Given the description of an element on the screen output the (x, y) to click on. 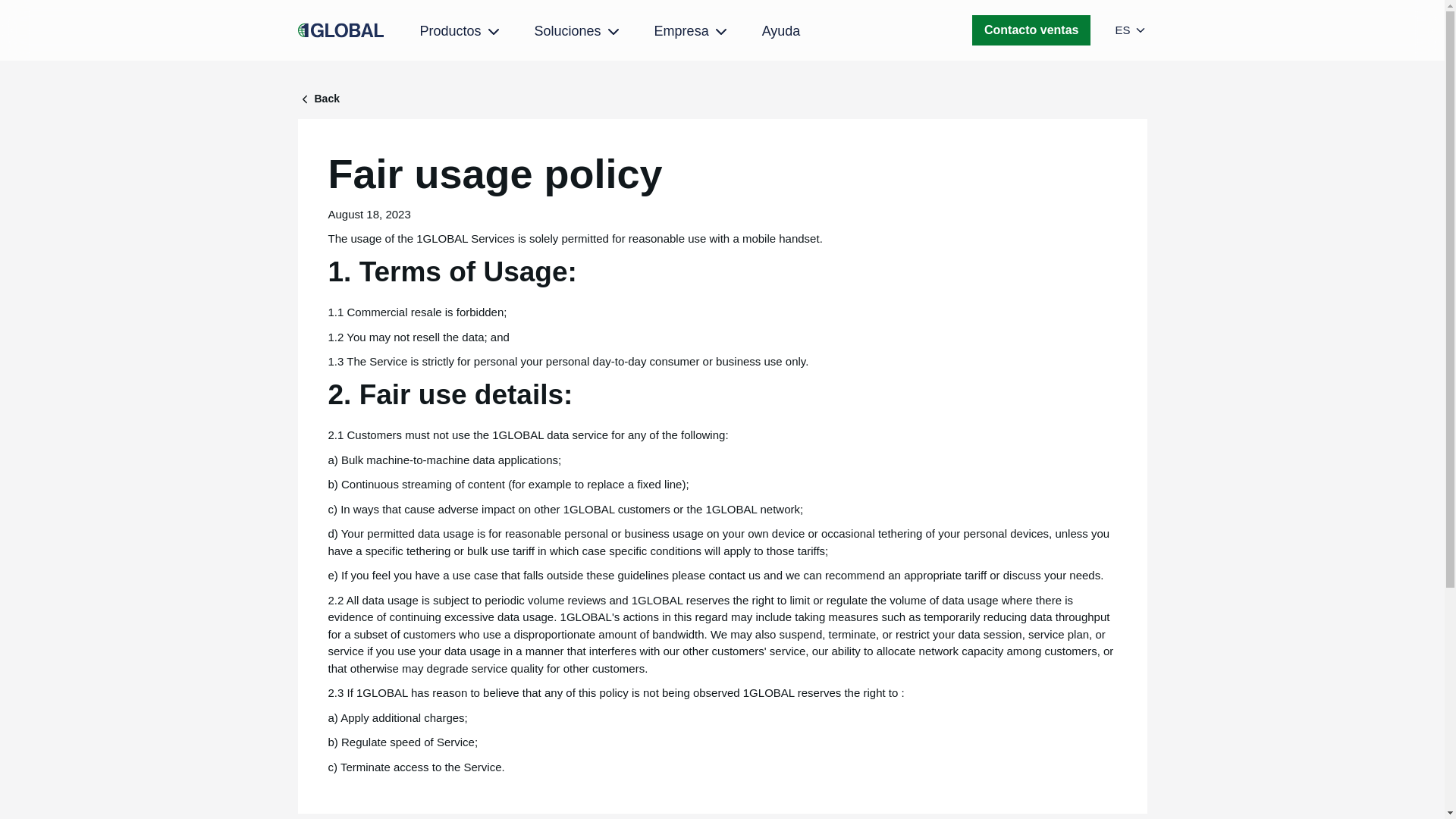
Ayuda (780, 30)
Productos (461, 31)
Soluciones (578, 31)
Ayuda (780, 30)
ES (1131, 30)
Contacto ventas (1031, 30)
Back (722, 98)
Empresa (691, 31)
